Given the description of an element on the screen output the (x, y) to click on. 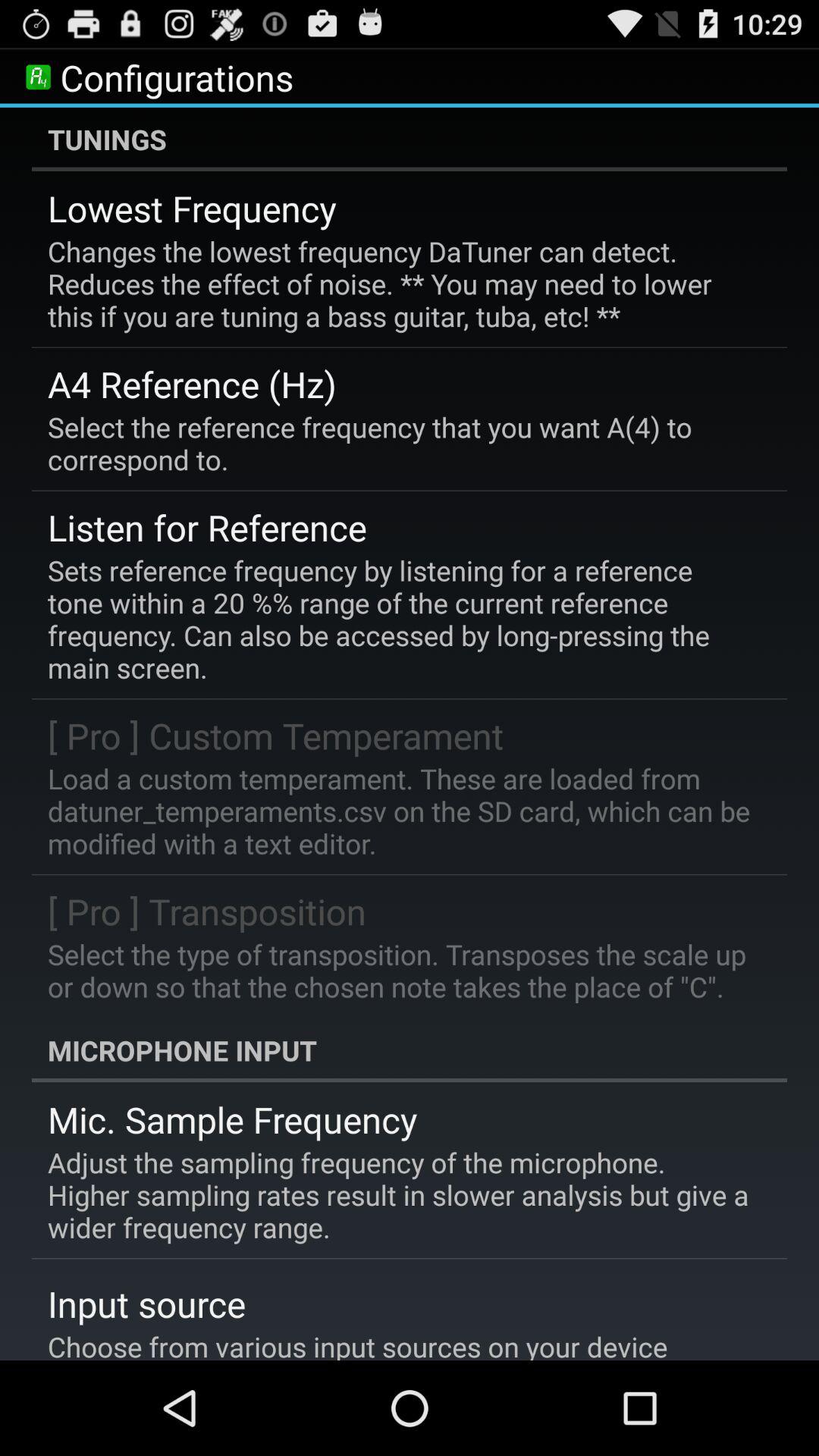
turn on the load a custom item (399, 810)
